Given the description of an element on the screen output the (x, y) to click on. 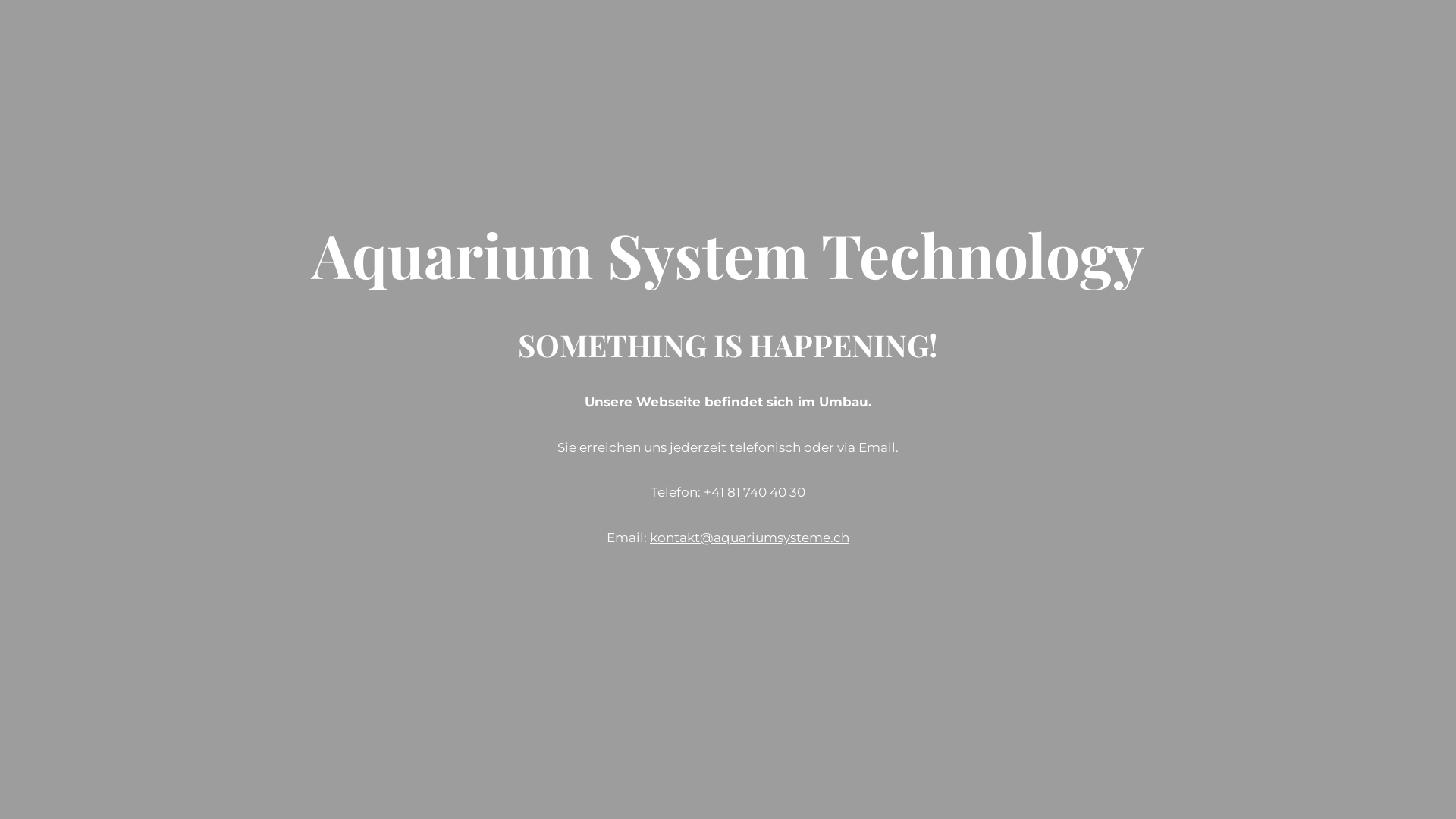
Aquarium System Technology Element type: text (727, 267)
kontakt@aquariumsysteme.ch Element type: text (749, 537)
